Given the description of an element on the screen output the (x, y) to click on. 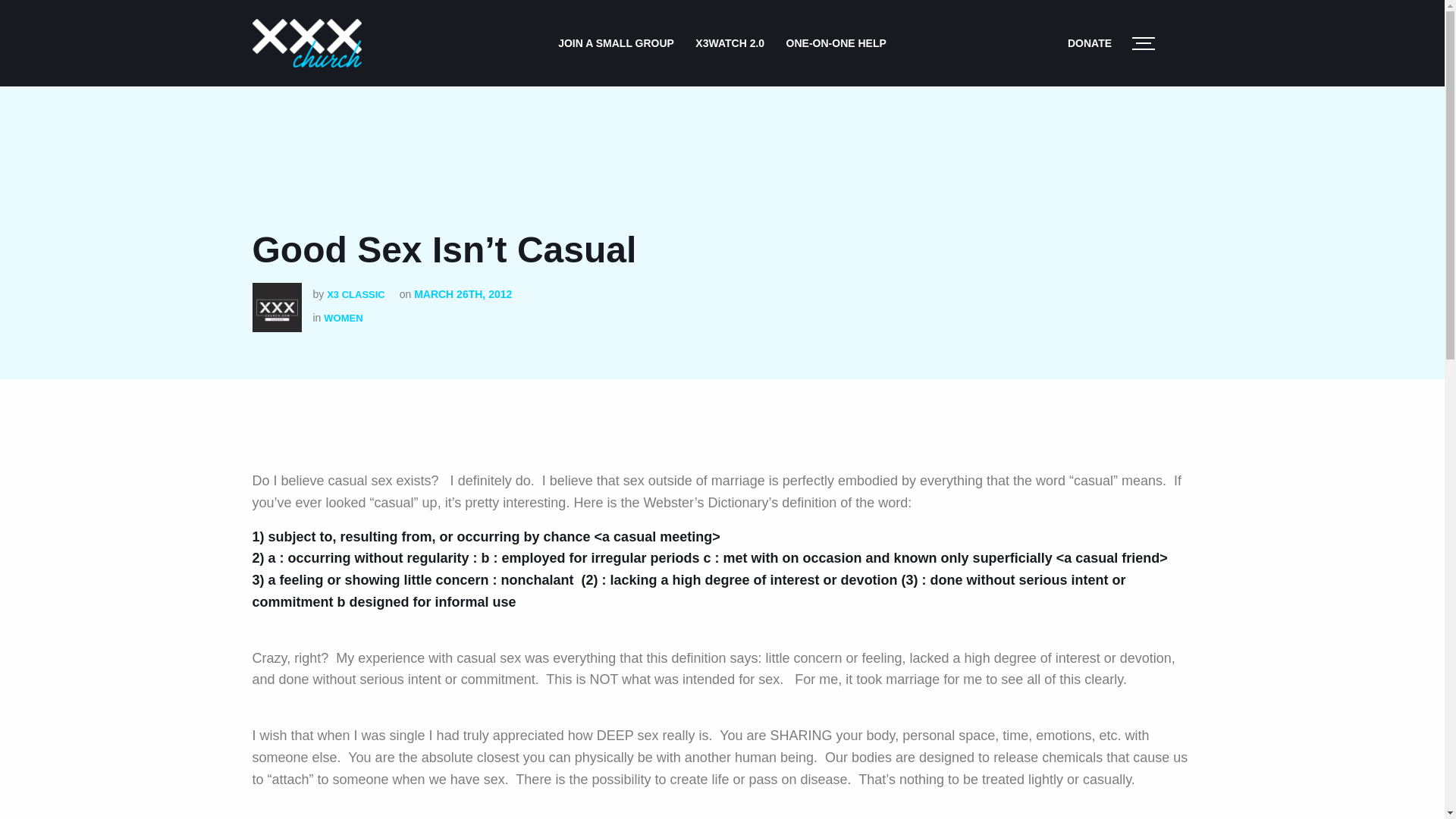
DONATE (1089, 43)
JOIN A SMALL GROUP (615, 43)
X3WATCH 2.0 (729, 43)
ONE-ON-ONE HELP (836, 43)
